Given the description of an element on the screen output the (x, y) to click on. 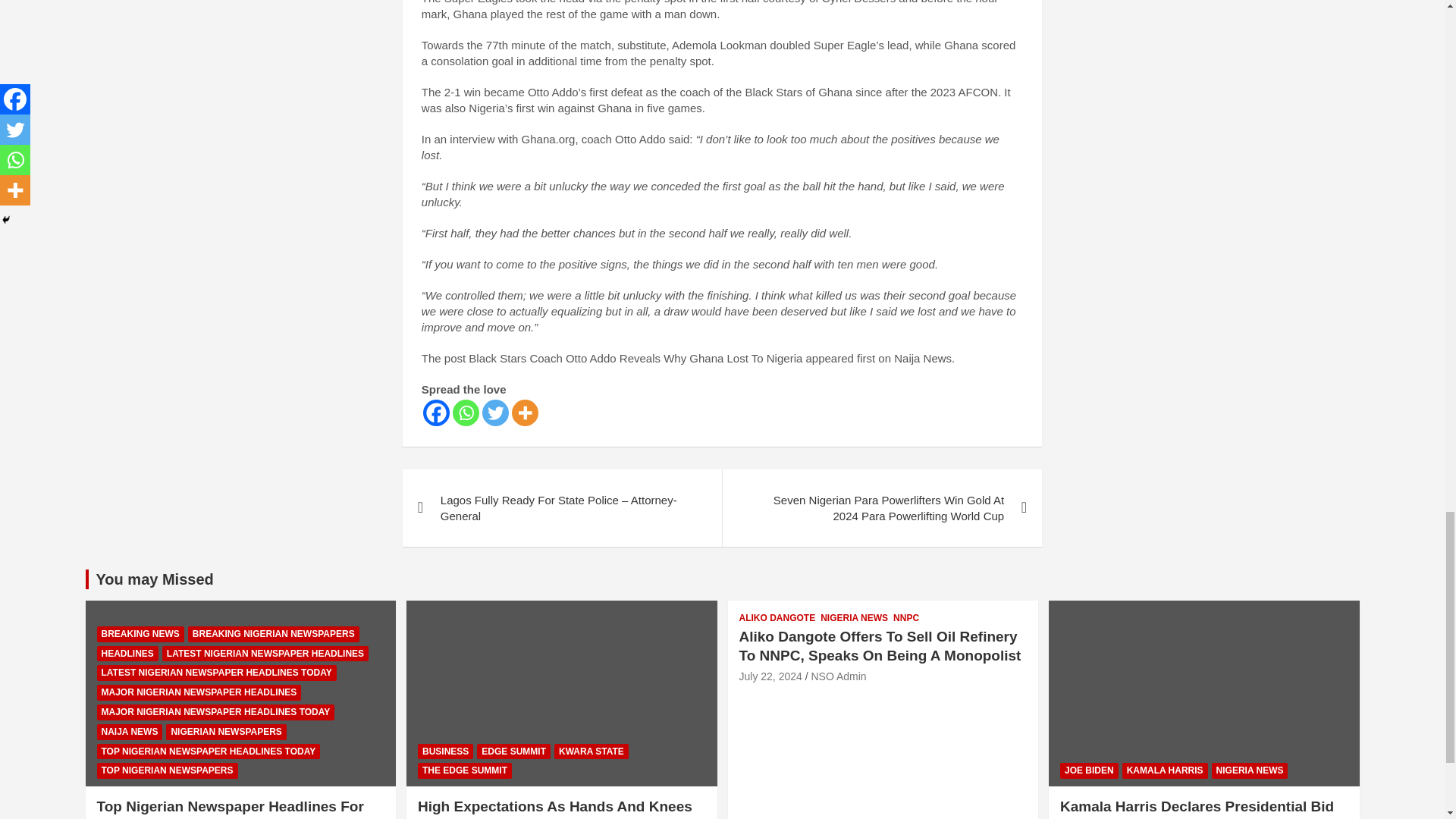
Facebook (436, 412)
LATEST NIGERIAN NEWSPAPER HEADLINES (264, 653)
Twitter (494, 412)
Whatsapp (465, 412)
LATEST NIGERIAN NEWSPAPER HEADLINES TODAY (216, 672)
MAJOR NIGERIAN NEWSPAPER HEADLINES TODAY (215, 712)
MAJOR NIGERIAN NEWSPAPER HEADLINES (199, 692)
NAIJA NEWS (130, 731)
HEADLINES (127, 653)
You may Missed (154, 579)
More (525, 412)
NIGERIAN NEWSPAPERS (225, 731)
BREAKING NIGERIAN NEWSPAPERS (273, 634)
